Given the description of an element on the screen output the (x, y) to click on. 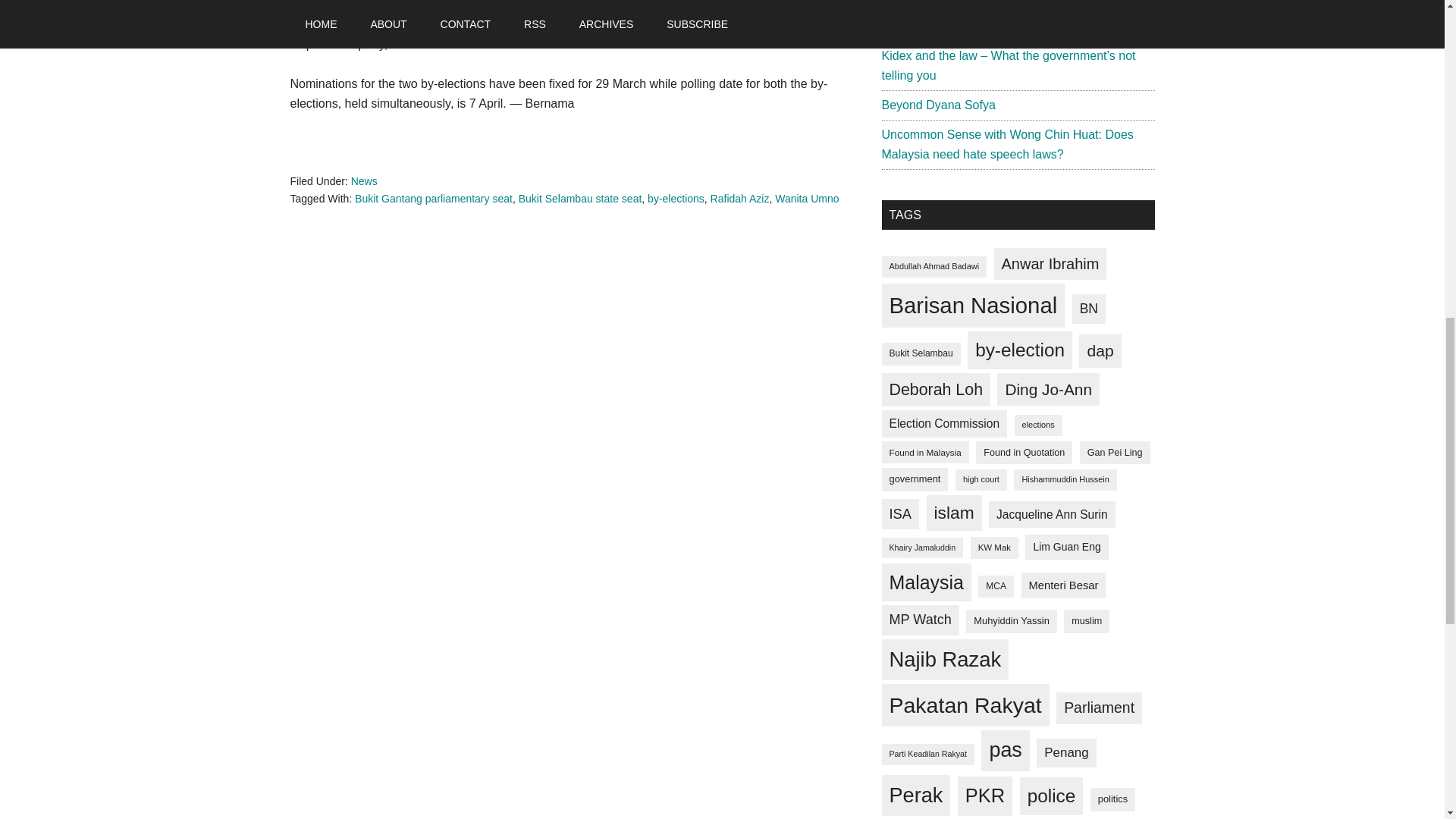
Wanita Umno (806, 198)
Bukit Gantang parliamentary seat (433, 198)
News (363, 181)
by-elections (675, 198)
Bukit Selambau state seat (580, 198)
Rafidah Aziz (740, 198)
